Given the description of an element on the screen output the (x, y) to click on. 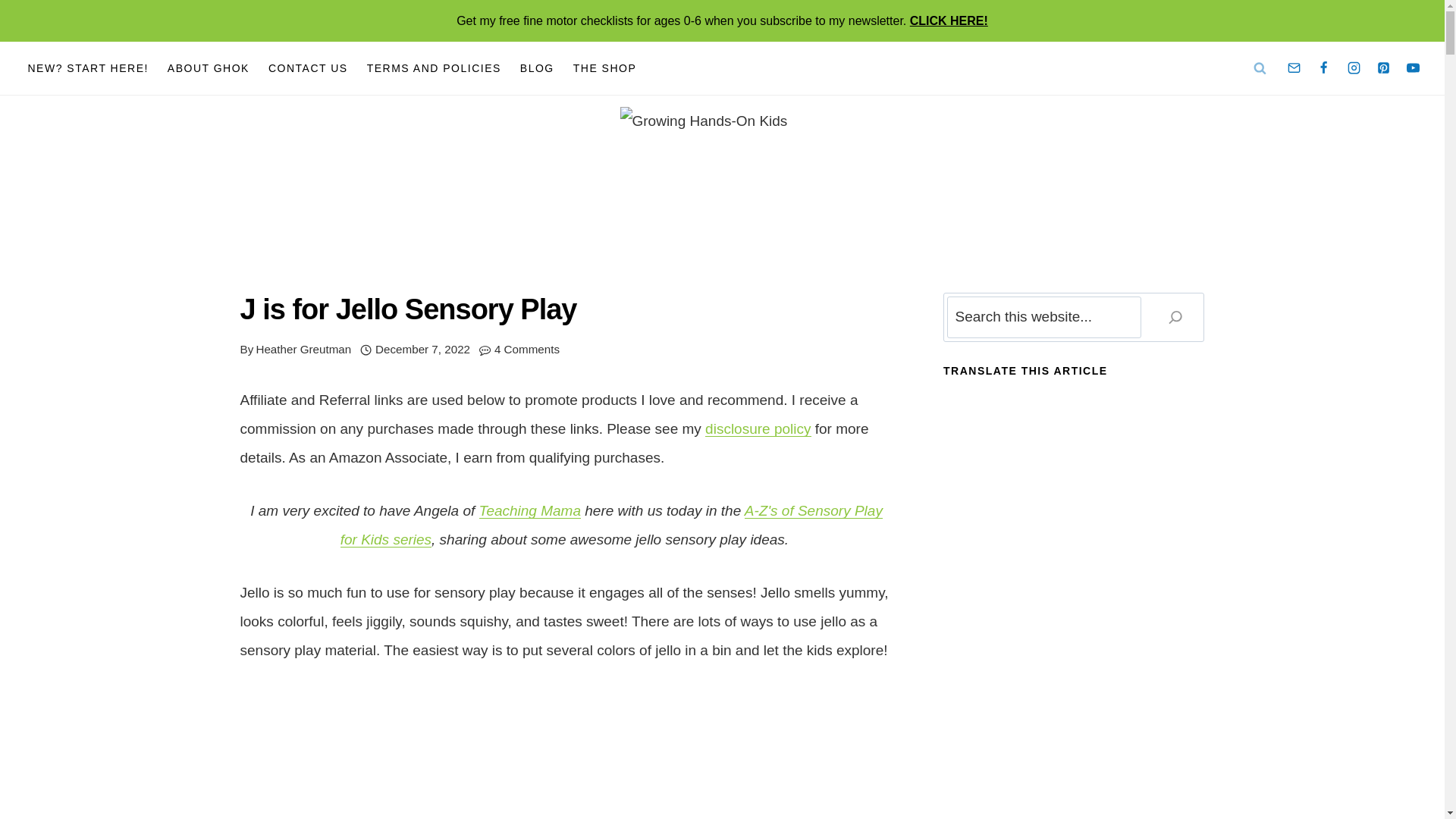
CONTACT US (307, 68)
Teaching Mama (529, 510)
BLOG (537, 68)
THE SHOP (604, 68)
TERMS AND POLICIES (433, 68)
4 Comments (527, 349)
Heather Greutman (303, 349)
NEW? START HERE! (87, 68)
disclosure policy (757, 428)
ABOUT GHOK (208, 68)
